Given the description of an element on the screen output the (x, y) to click on. 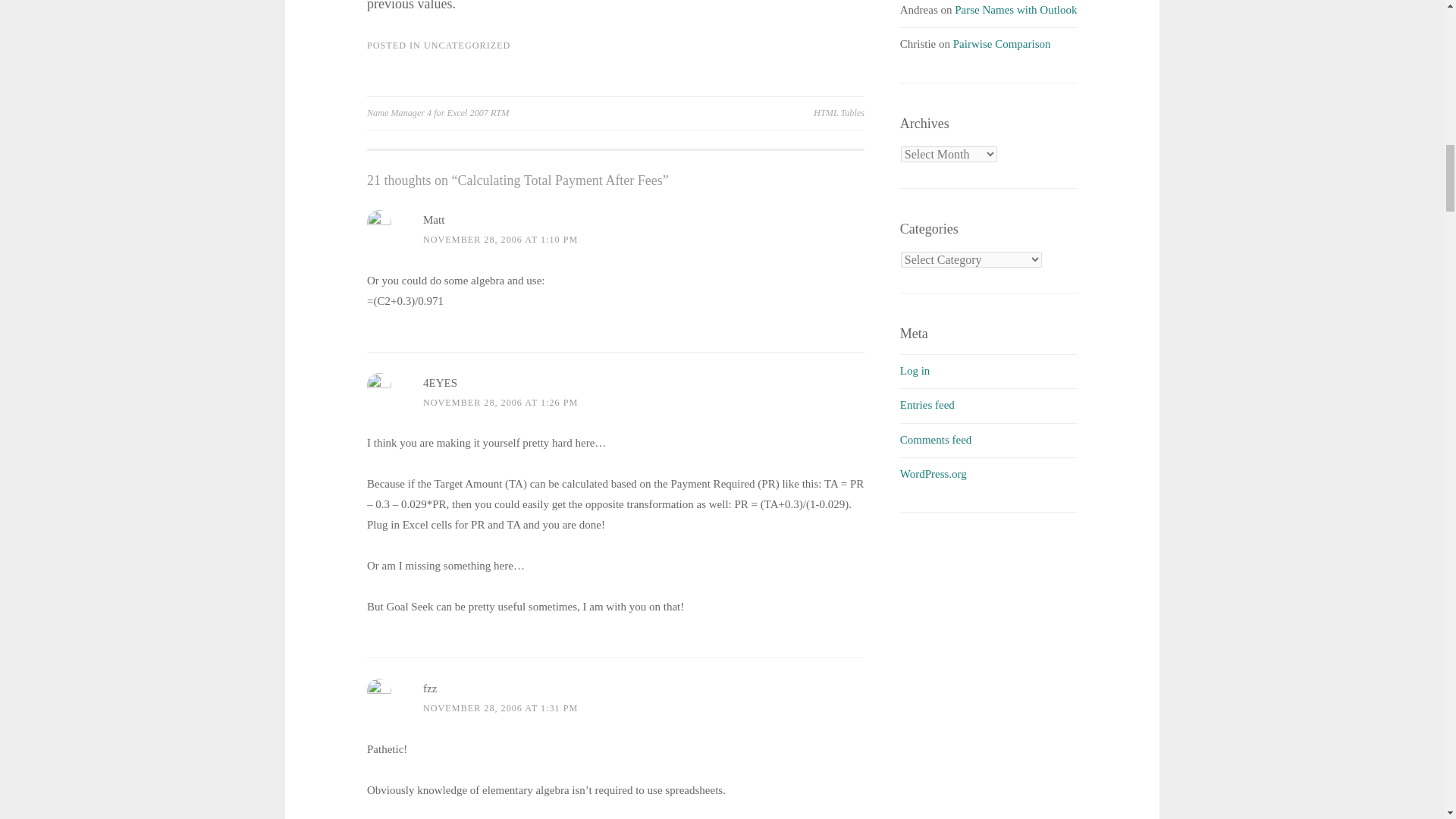
NOVEMBER 28, 2006 AT 1:10 PM (500, 239)
NOVEMBER 28, 2006 AT 1:26 PM (500, 402)
Name Manager 4 for Excel 2007 RTM (490, 112)
NOVEMBER 28, 2006 AT 1:31 PM (500, 707)
HTML Tables (739, 112)
